Given the description of an element on the screen output the (x, y) to click on. 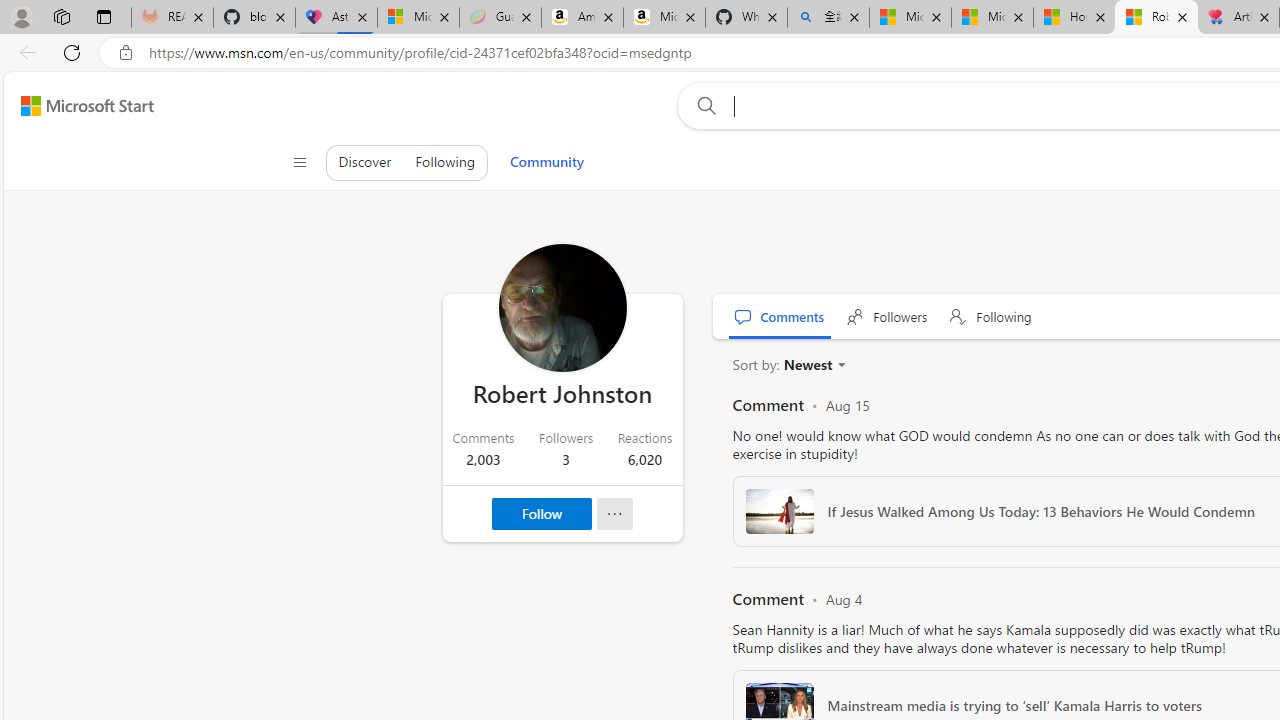
 Followers (887, 316)
Content thumbnail (779, 511)
Community (546, 162)
